Given the description of an element on the screen output the (x, y) to click on. 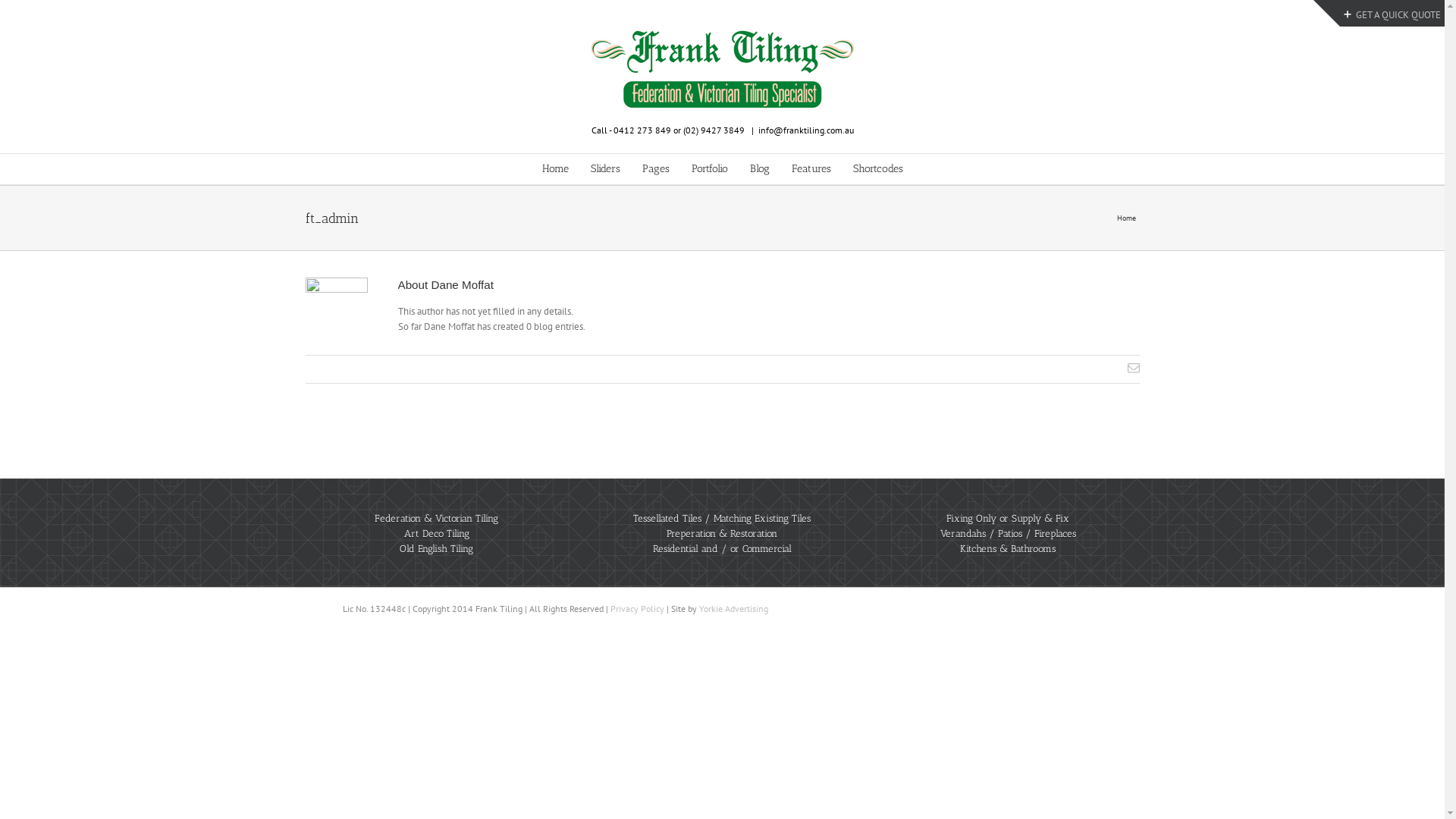
Privacy Policy Element type: text (637, 608)
Shortcodes Element type: text (877, 168)
Yorkie Advertising Element type: text (733, 608)
Home Element type: text (1127, 217)
Pages Element type: text (654, 168)
Features Element type: text (811, 168)
Mail Element type: hover (1132, 367)
Sliders Element type: text (604, 168)
GET A QUICK QUOTE Element type: text (1391, 14)
Portfolio Element type: text (709, 168)
Home Element type: text (554, 168)
Blog Element type: text (758, 168)
info@franktiling.com.au Element type: text (805, 129)
